Given the description of an element on the screen output the (x, y) to click on. 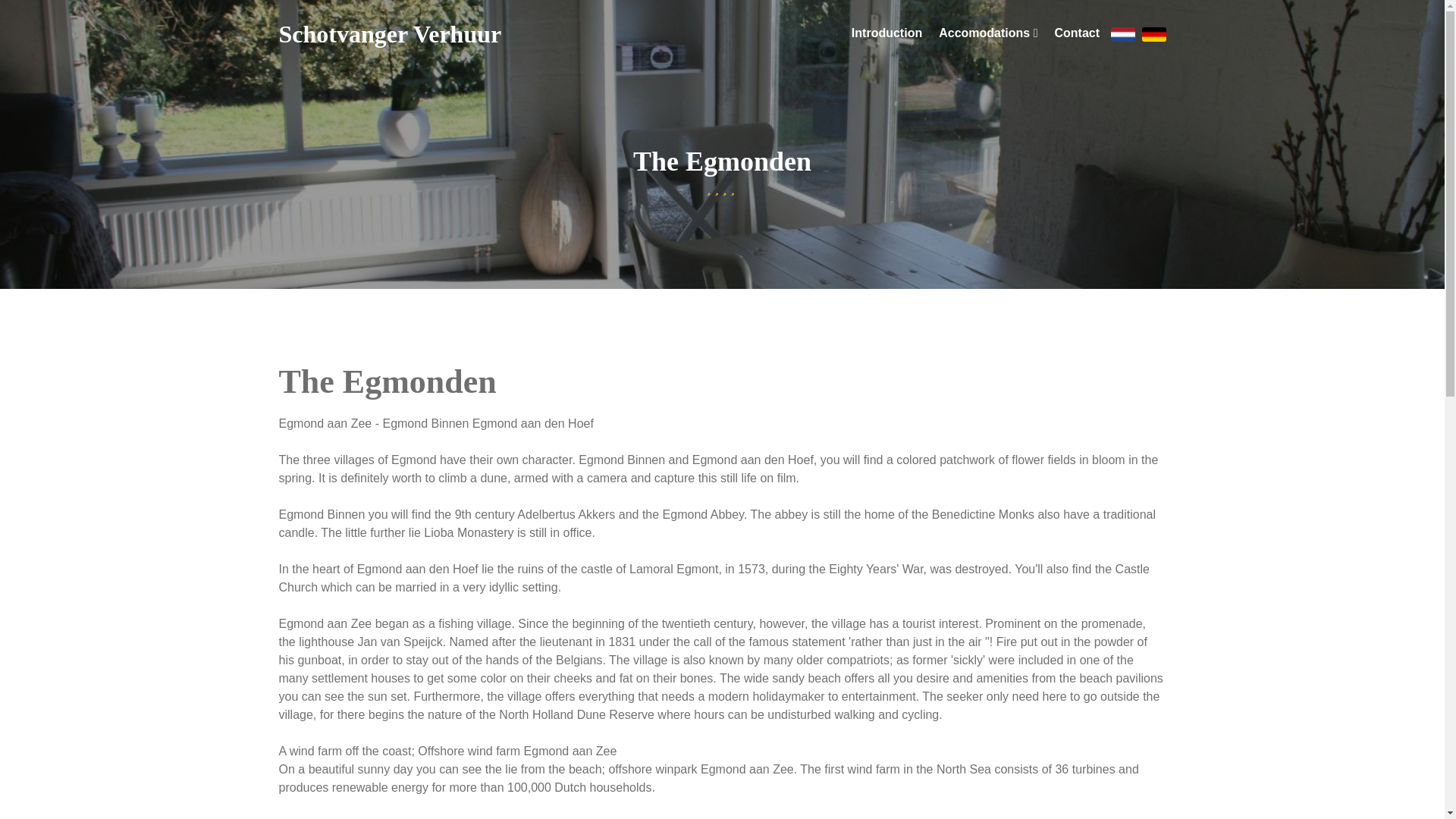
Schotvanger Verhuur (975, 34)
Introduction (390, 33)
Introduction (886, 33)
Contact (886, 33)
Contact (1076, 33)
Accomodations (1076, 33)
